Given the description of an element on the screen output the (x, y) to click on. 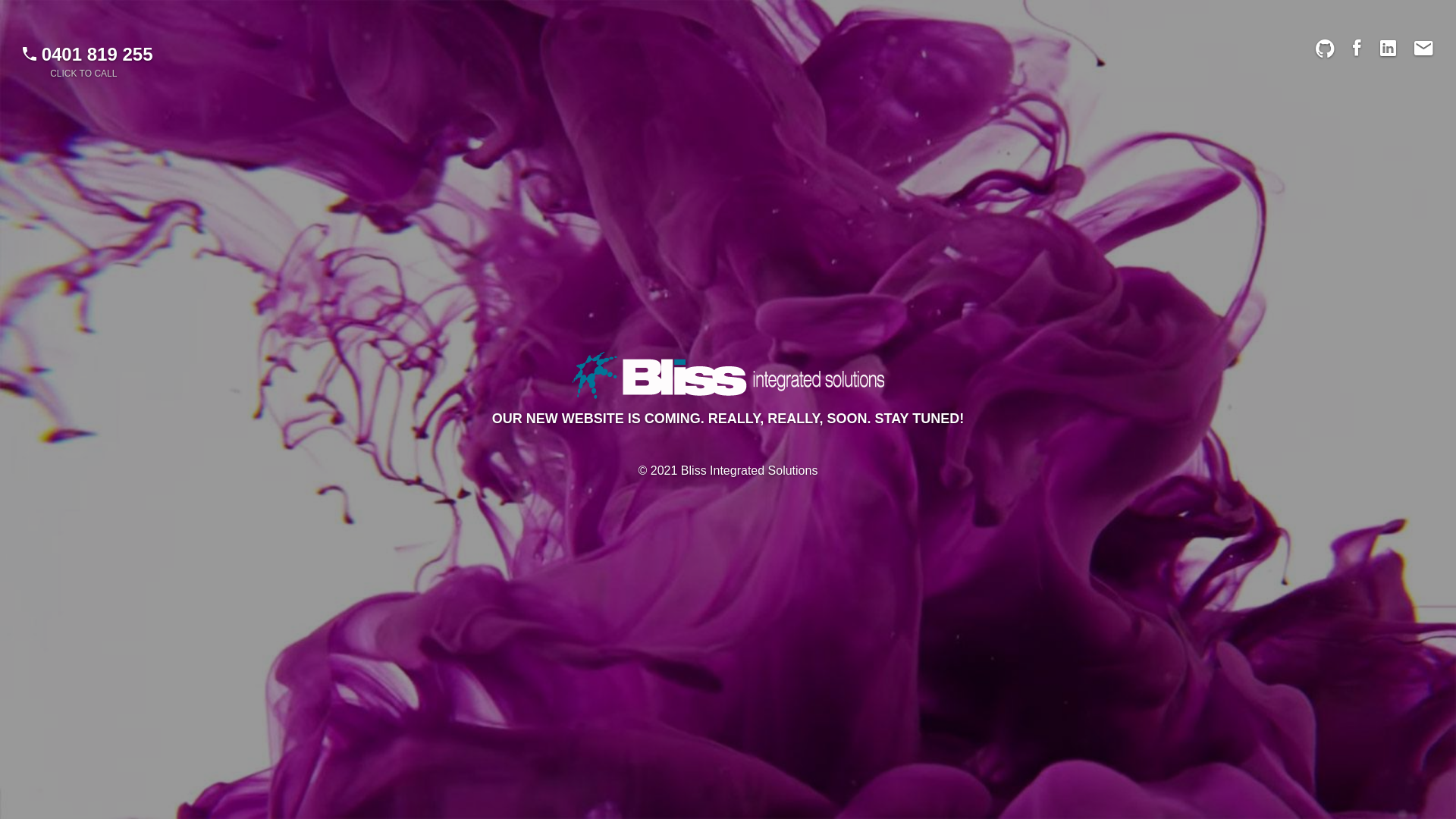
0401 819 255
CLICK TO CALL Element type: text (87, 60)
